Given the description of an element on the screen output the (x, y) to click on. 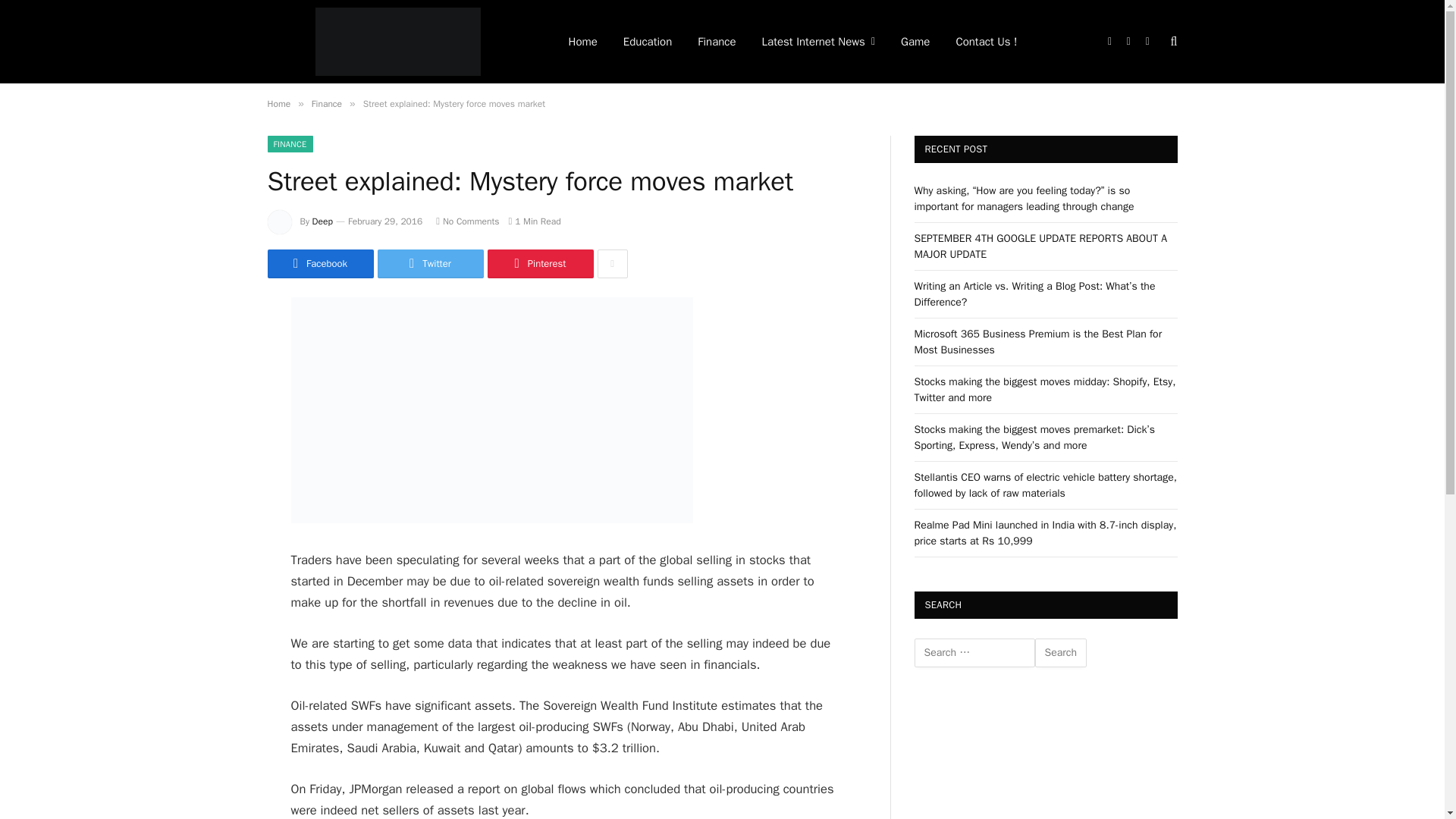
Pinterest (539, 263)
Twitter (430, 263)
Facebook (319, 263)
No Comments (467, 221)
Show More Social Sharing (611, 263)
BlogSpotTips (397, 41)
Latest Internet News (818, 41)
Search (1059, 652)
Finance (326, 103)
Share on Facebook (319, 263)
Share on Pinterest (539, 263)
Search (1059, 652)
Contact Us ! (985, 41)
Education (647, 41)
Deep (323, 221)
